Given the description of an element on the screen output the (x, y) to click on. 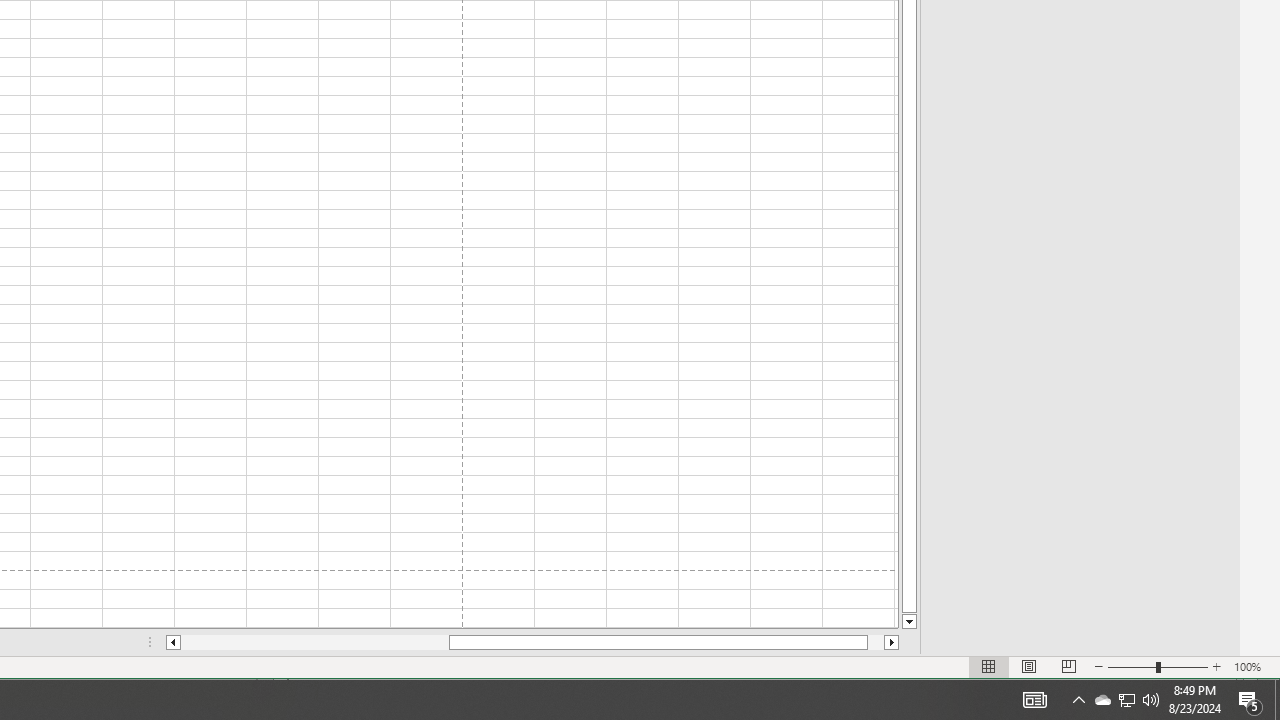
AutomationID: 4105 (1102, 699)
Action Center, 5 new notifications (1034, 699)
Notification Chevron (1250, 699)
